Given the description of an element on the screen output the (x, y) to click on. 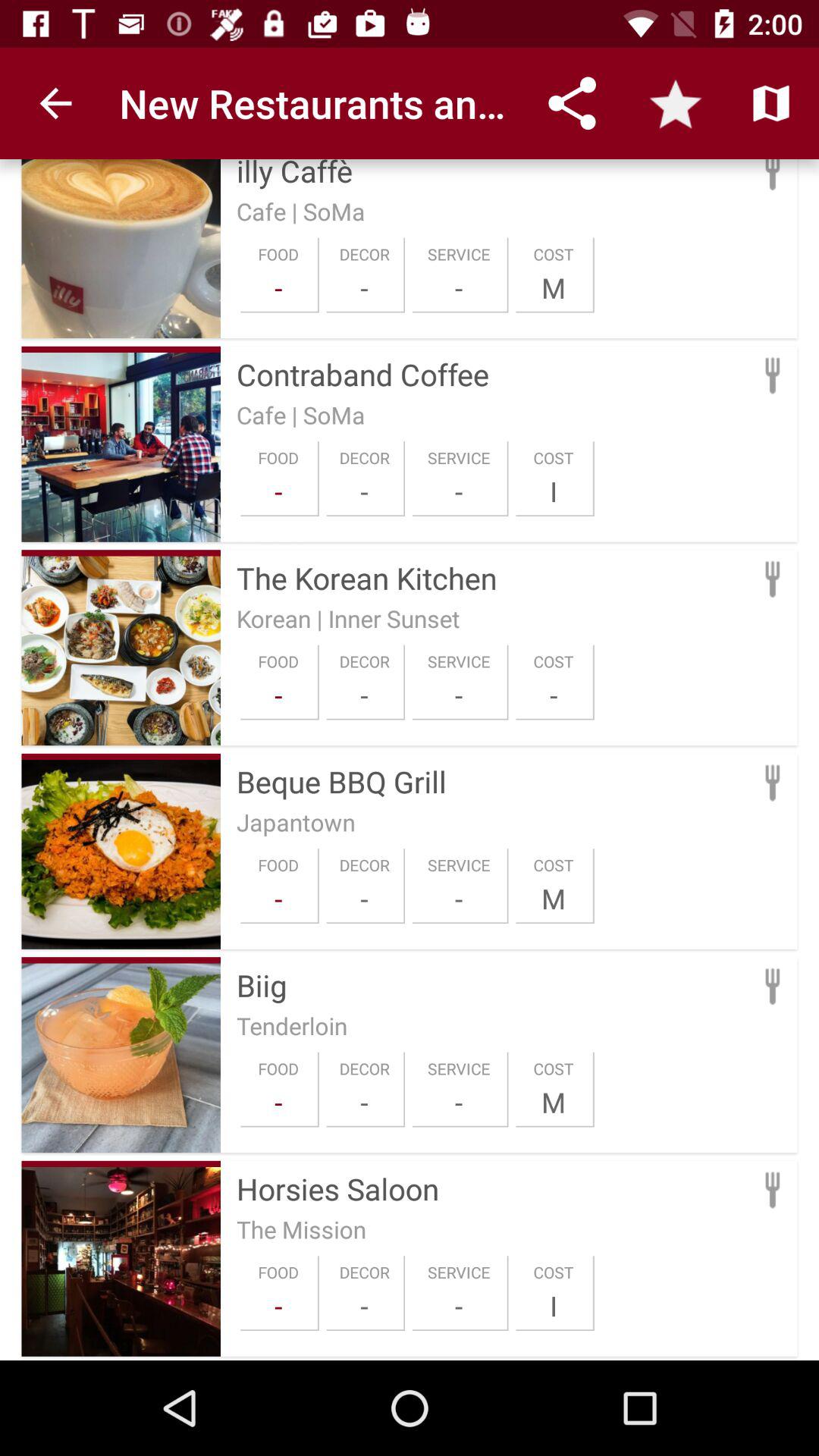
scroll until beque bbq grill item (492, 781)
